Given the description of an element on the screen output the (x, y) to click on. 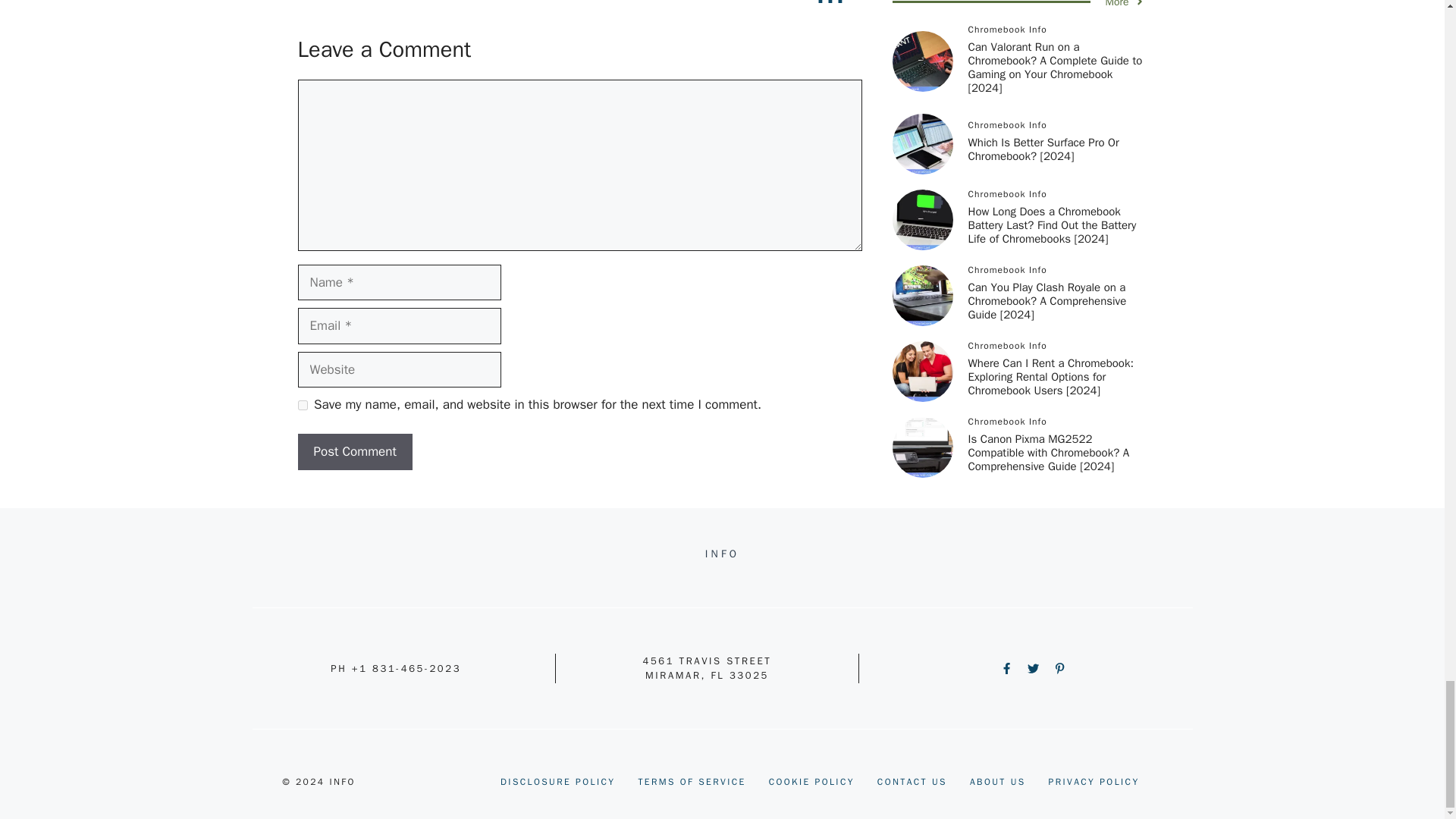
yes (302, 405)
Post Comment (354, 452)
Post Comment (354, 452)
